Given the description of an element on the screen output the (x, y) to click on. 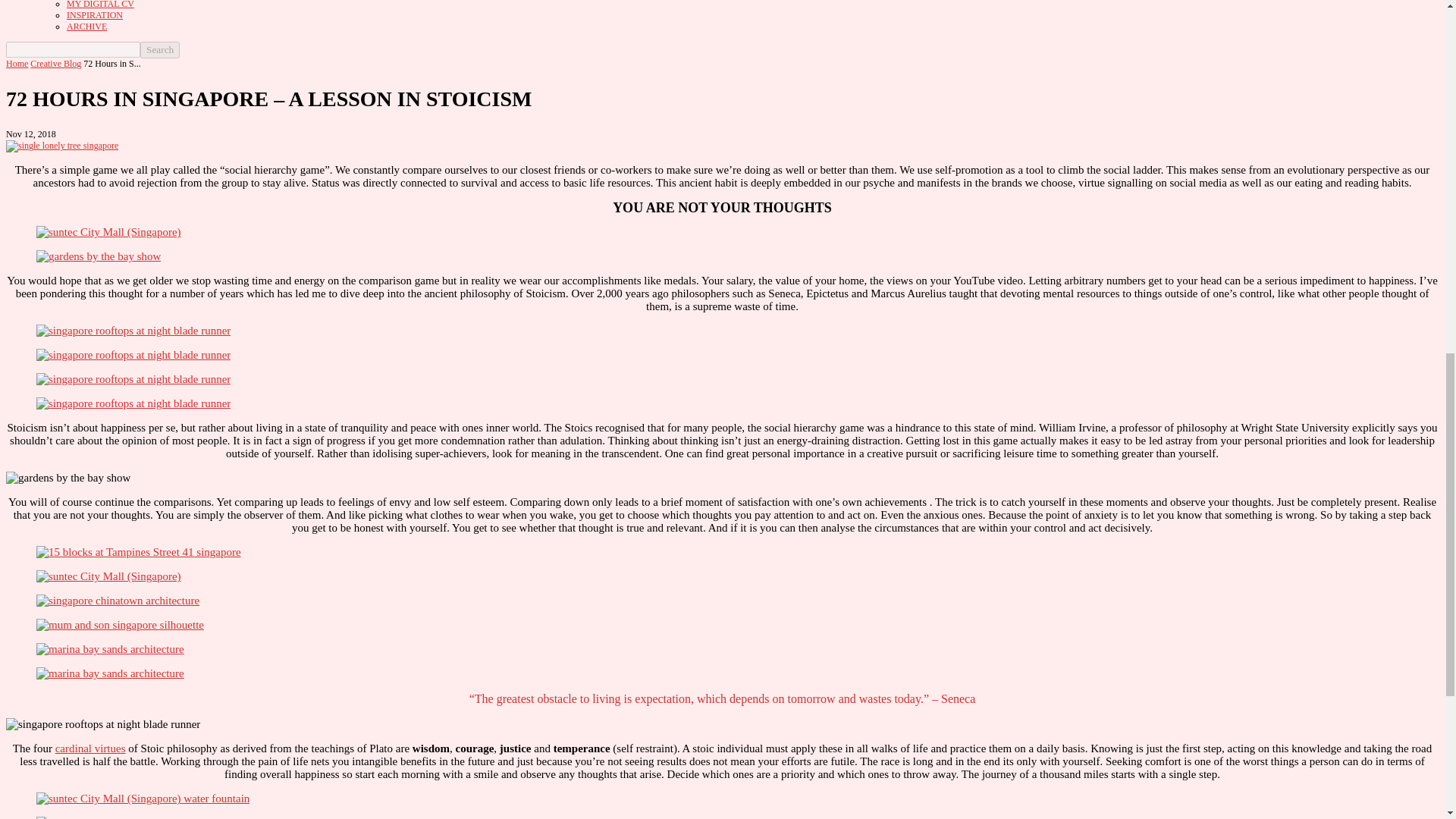
Search (159, 49)
